Given the description of an element on the screen output the (x, y) to click on. 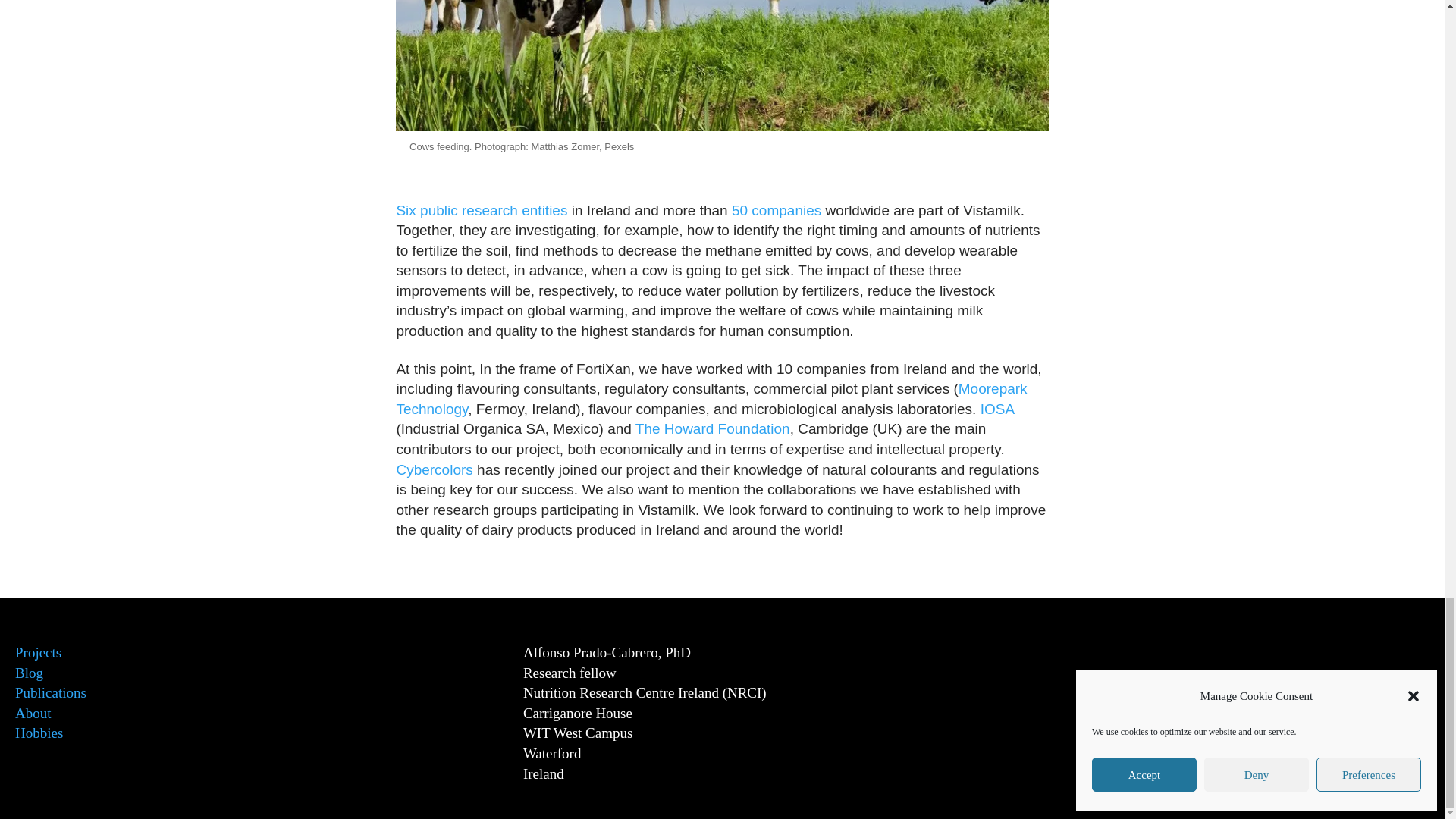
Dairy cows-matthias-zomer (722, 65)
